Given the description of an element on the screen output the (x, y) to click on. 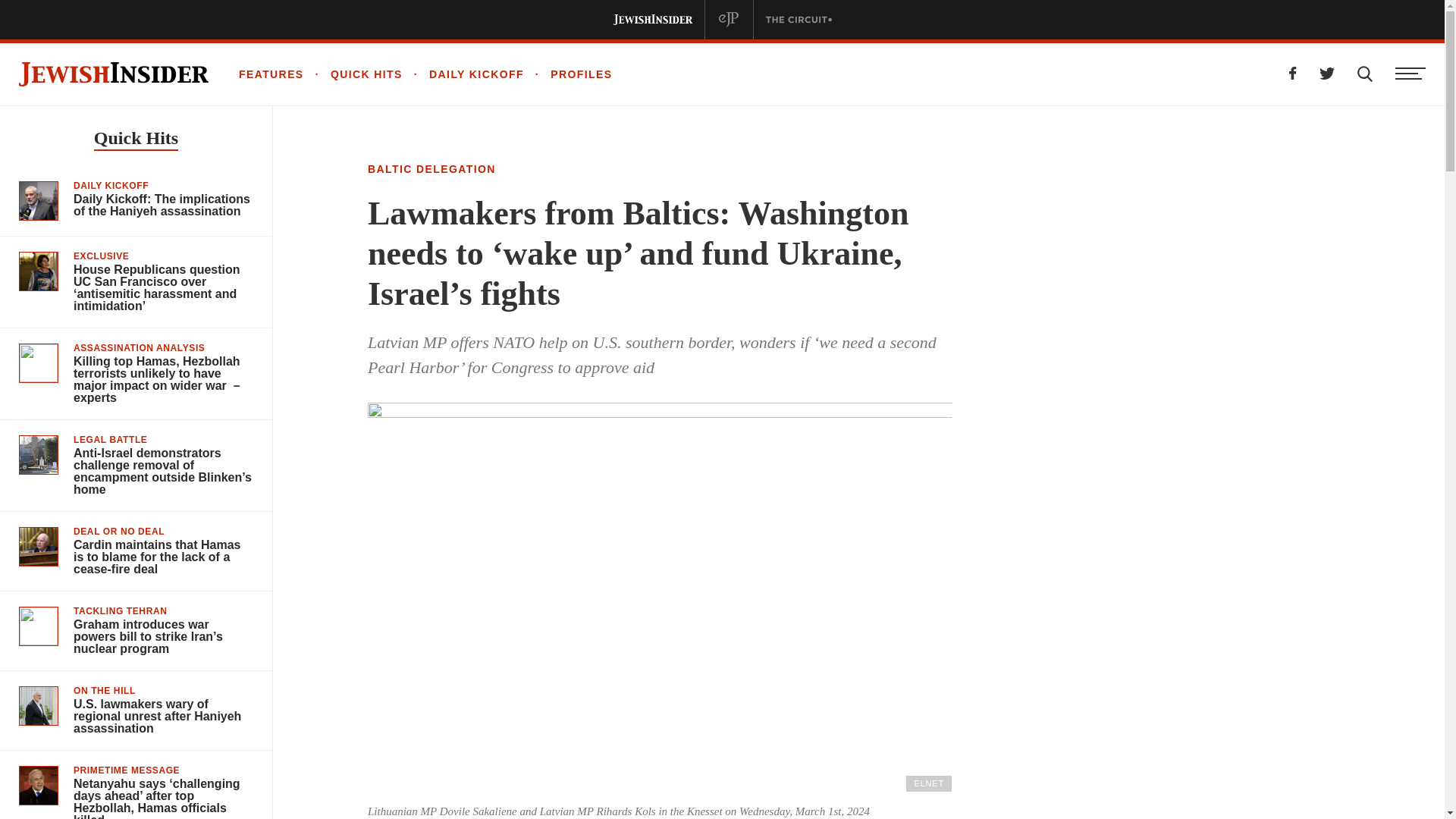
DAILY KICKOFF (463, 73)
FEATURES (271, 73)
Quick Hits (135, 139)
PROFILES (568, 73)
QUICK HITS (353, 73)
